Given the description of an element on the screen output the (x, y) to click on. 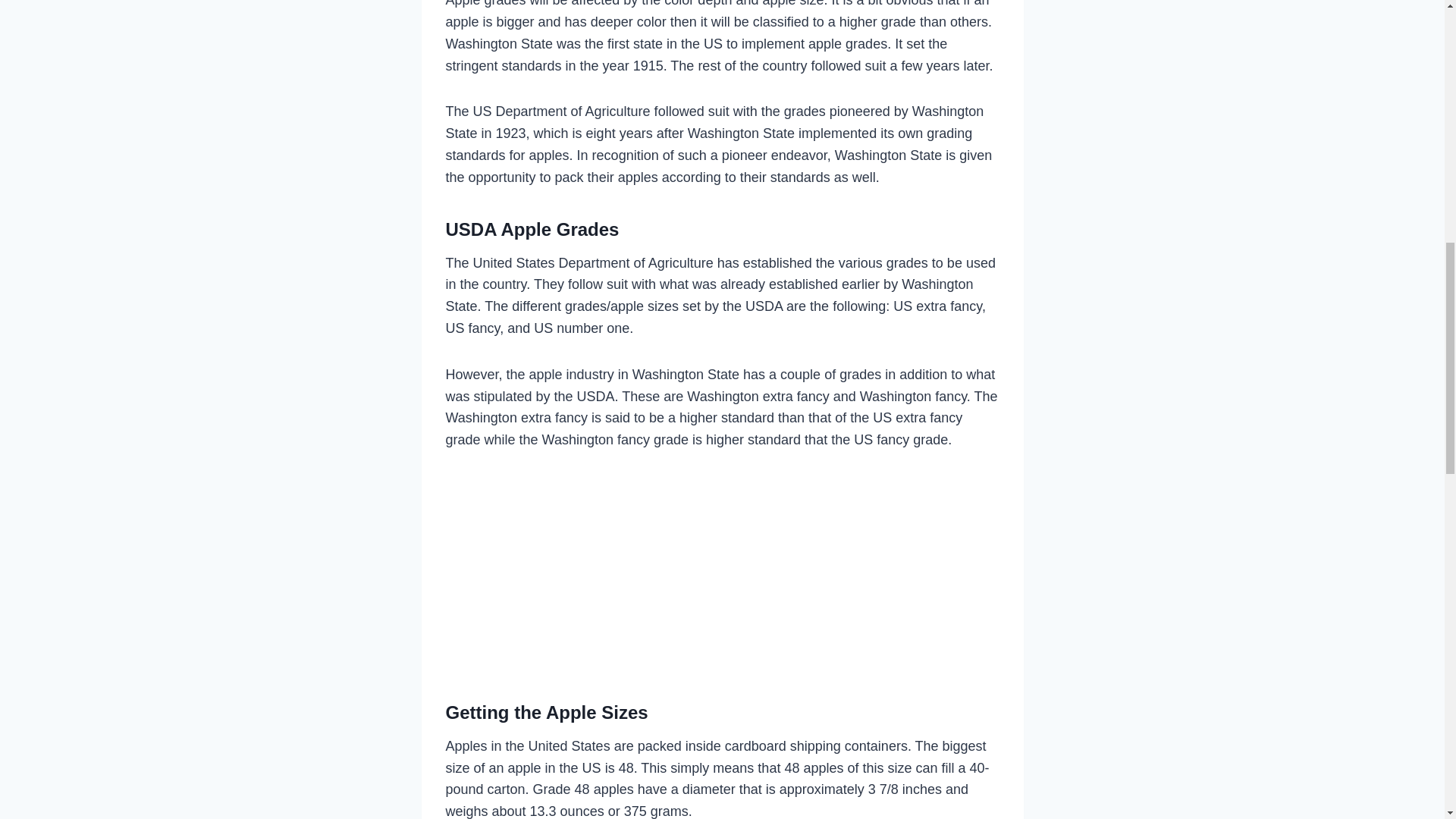
Advertisement (721, 570)
